Given the description of an element on the screen output the (x, y) to click on. 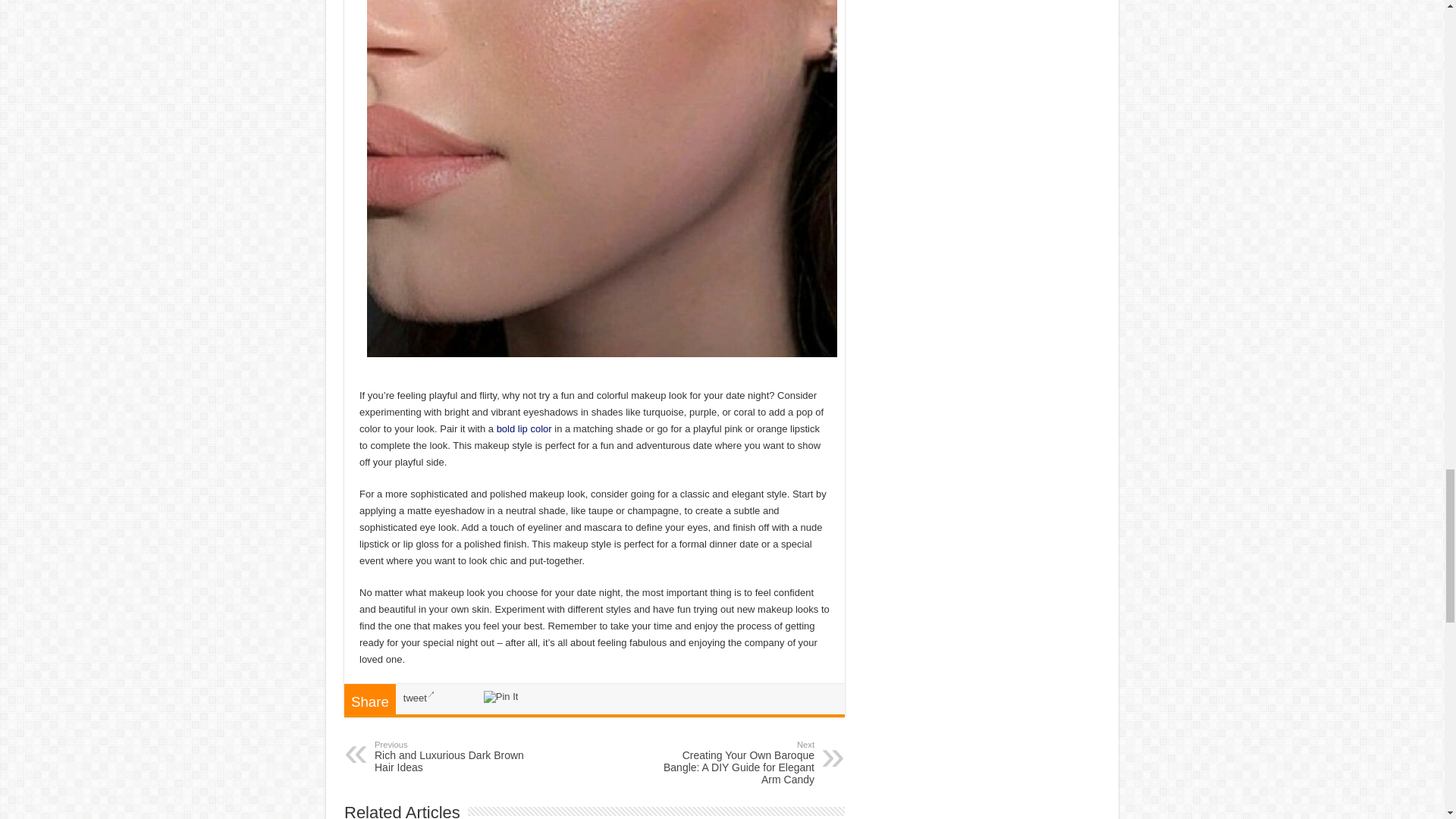
bold lip color (523, 428)
Pin It (500, 696)
tweet (419, 697)
Chic Winter Looks with Fur Collar Coats (523, 428)
